Given the description of an element on the screen output the (x, y) to click on. 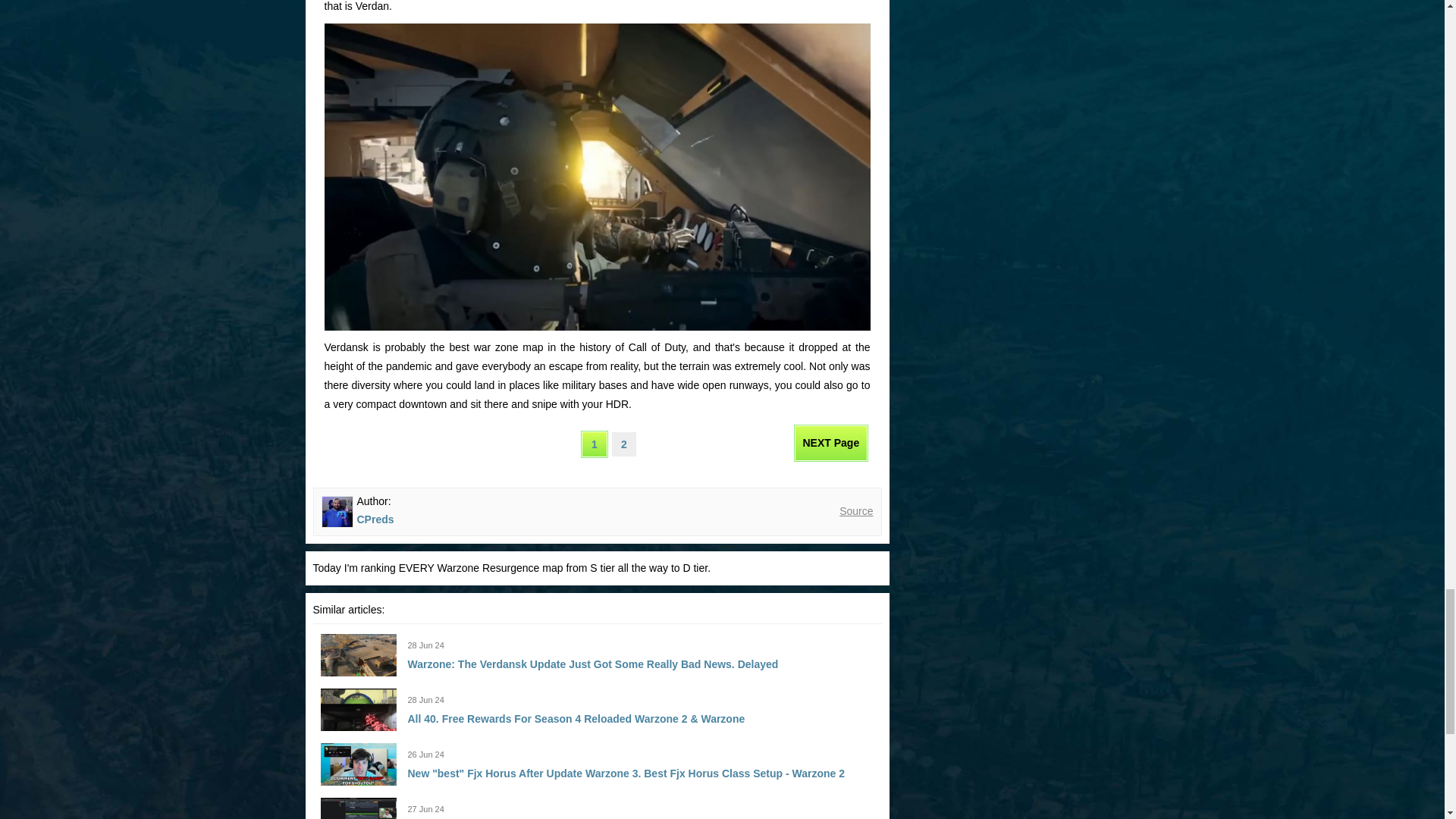
NEXT Page (830, 443)
CPreds (374, 519)
2 (623, 444)
1 (593, 444)
